Given the description of an element on the screen output the (x, y) to click on. 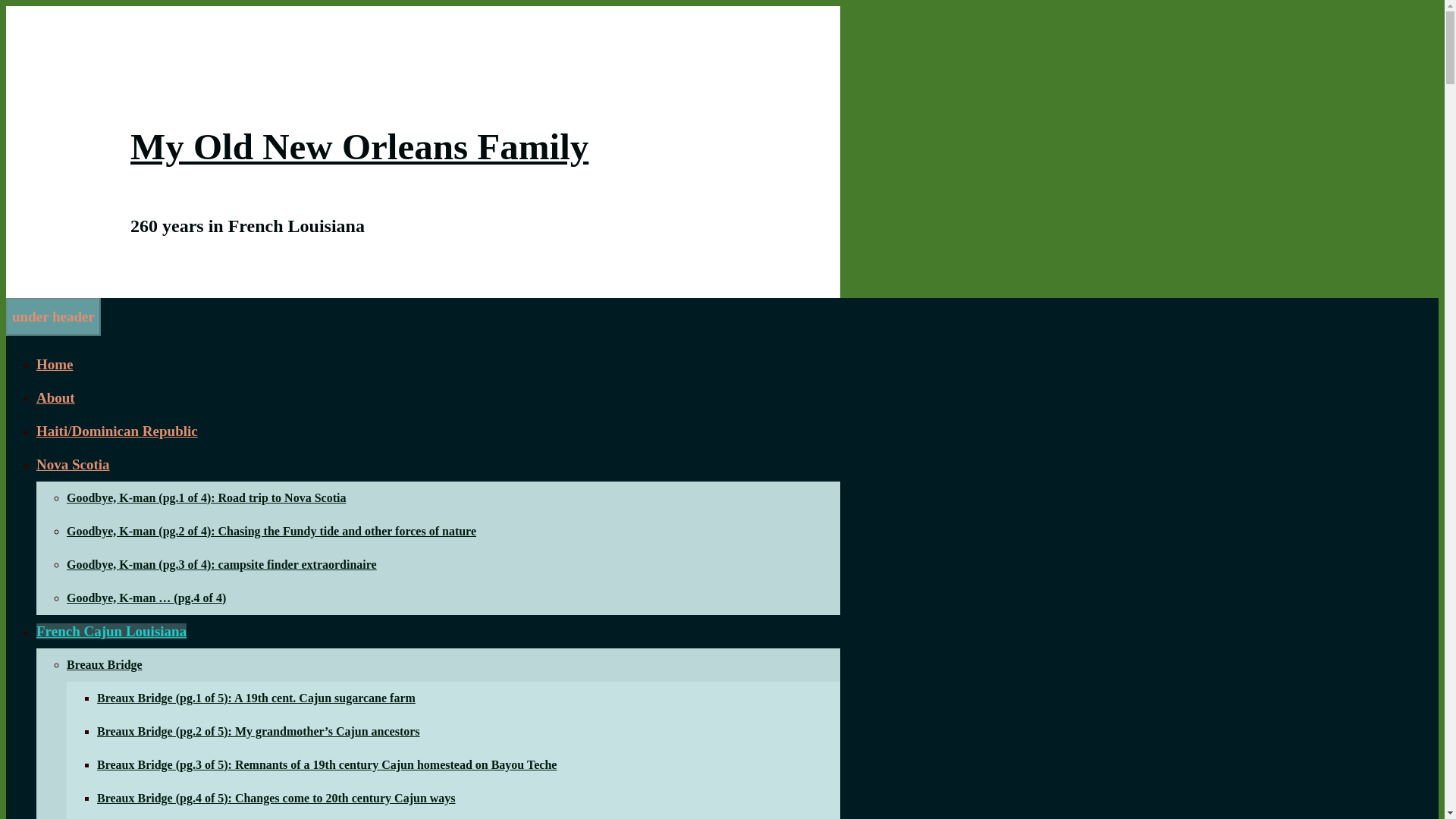
under header (52, 315)
French Cajun Louisiana (111, 631)
Breaux Bridge (104, 664)
Nova Scotia (73, 464)
My Old New Orleans Family (359, 146)
About (55, 397)
Home (55, 364)
